Given the description of an element on the screen output the (x, y) to click on. 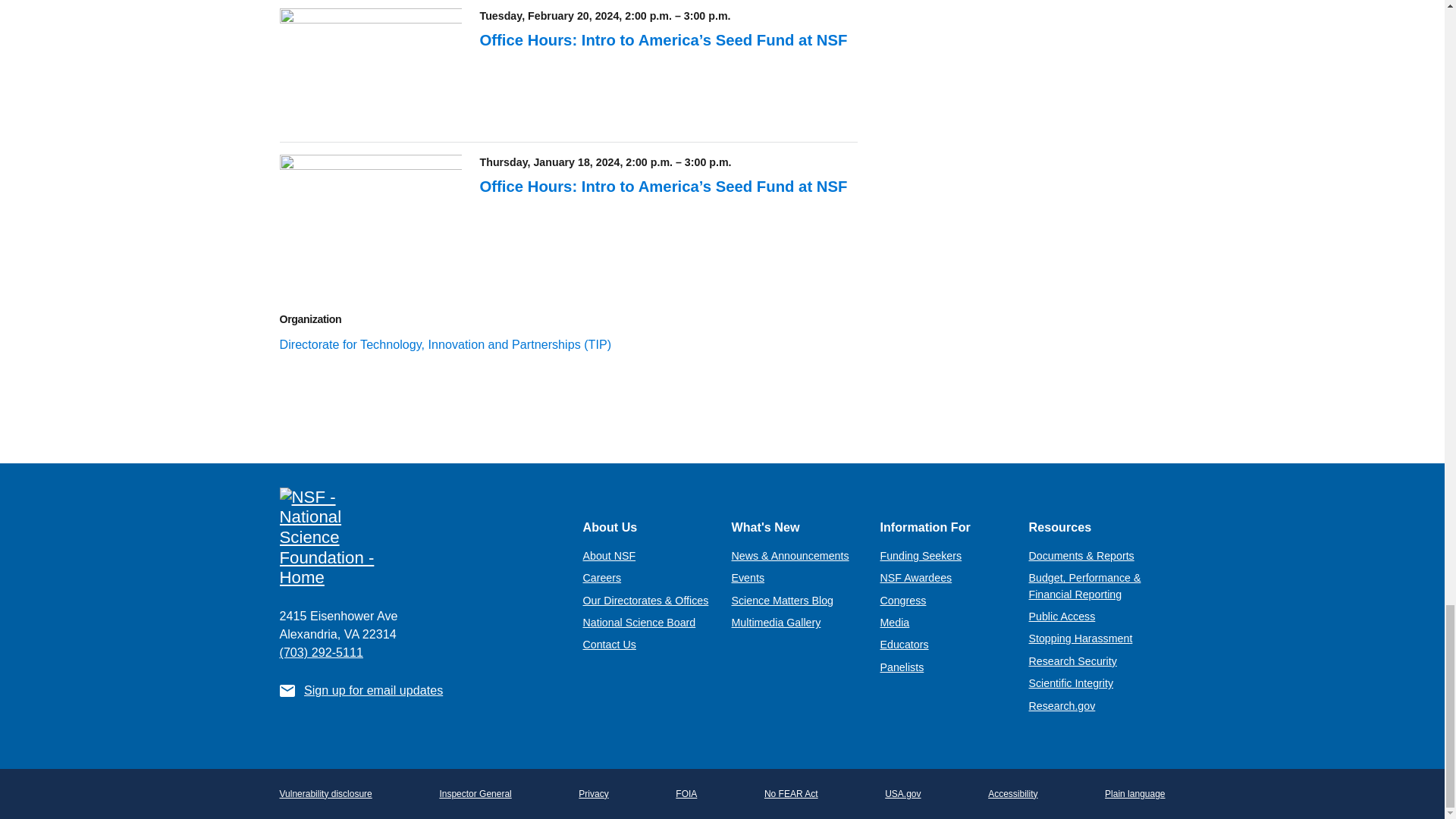
Sign up for email updates (373, 689)
NSF - National Science Foundation - Home (418, 537)
